Given the description of an element on the screen output the (x, y) to click on. 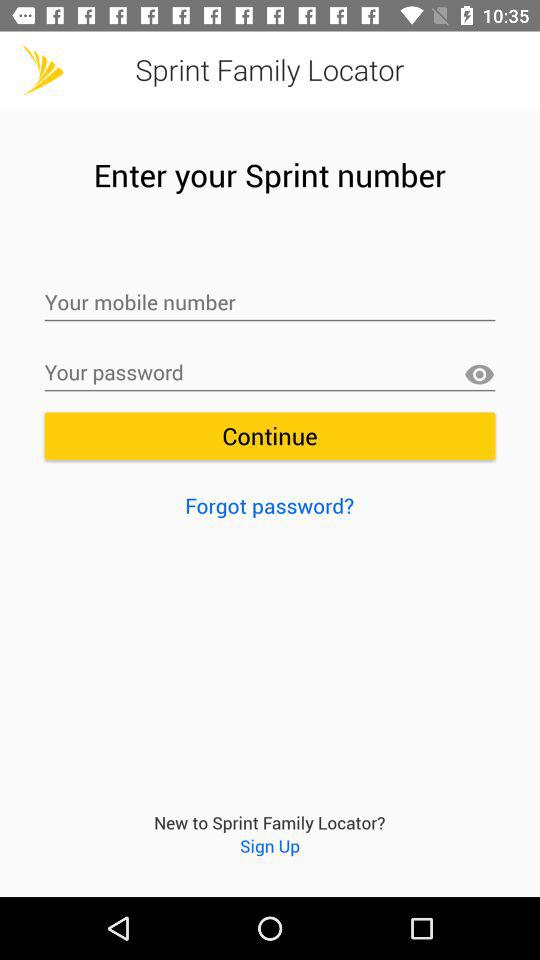
click item below the continue item (269, 505)
